Given the description of an element on the screen output the (x, y) to click on. 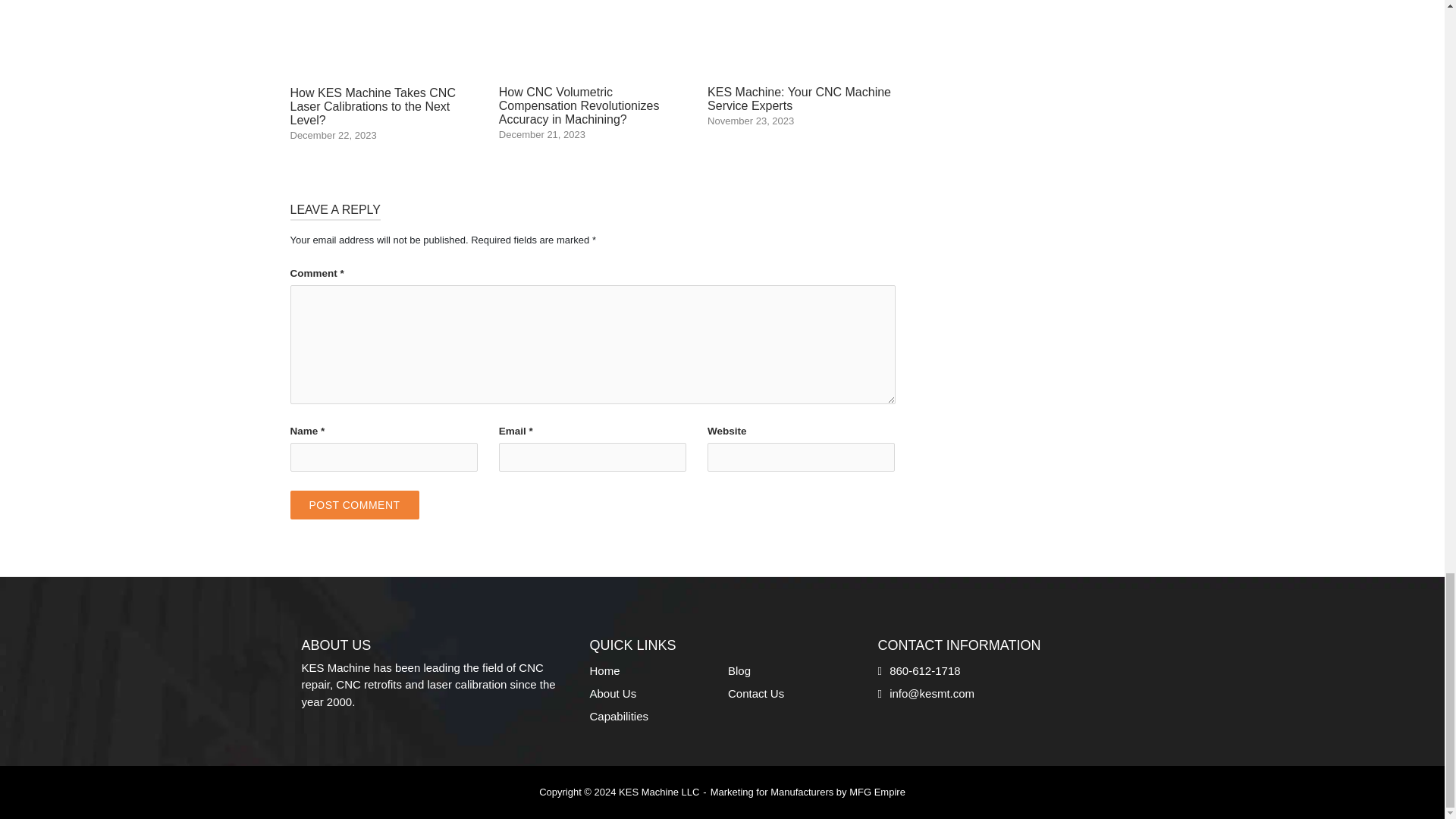
KES Machine: Your CNC Machine Service Experts (801, 63)
Post Comment (354, 504)
Post Comment (354, 504)
